Given the description of an element on the screen output the (x, y) to click on. 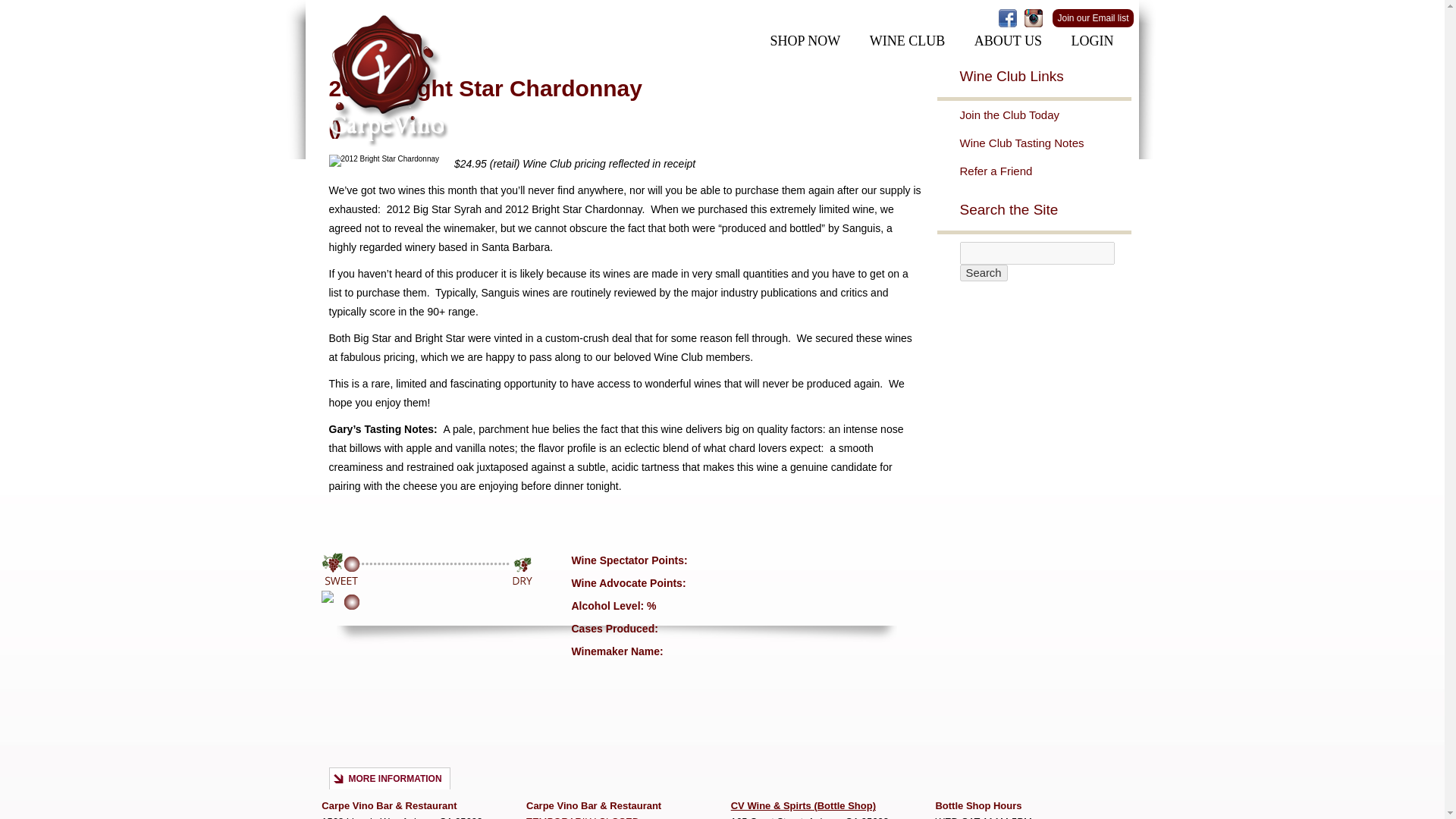
Refer a Friend (1045, 170)
SHOP NOW (803, 40)
Search (983, 272)
WINE CLUB (906, 40)
Join the Club Today (1045, 114)
Join our Email list (1092, 18)
Wine Club Tasting Notes (1045, 142)
ABOUT US (1008, 40)
LOGIN (1091, 40)
Search (983, 272)
